Given the description of an element on the screen output the (x, y) to click on. 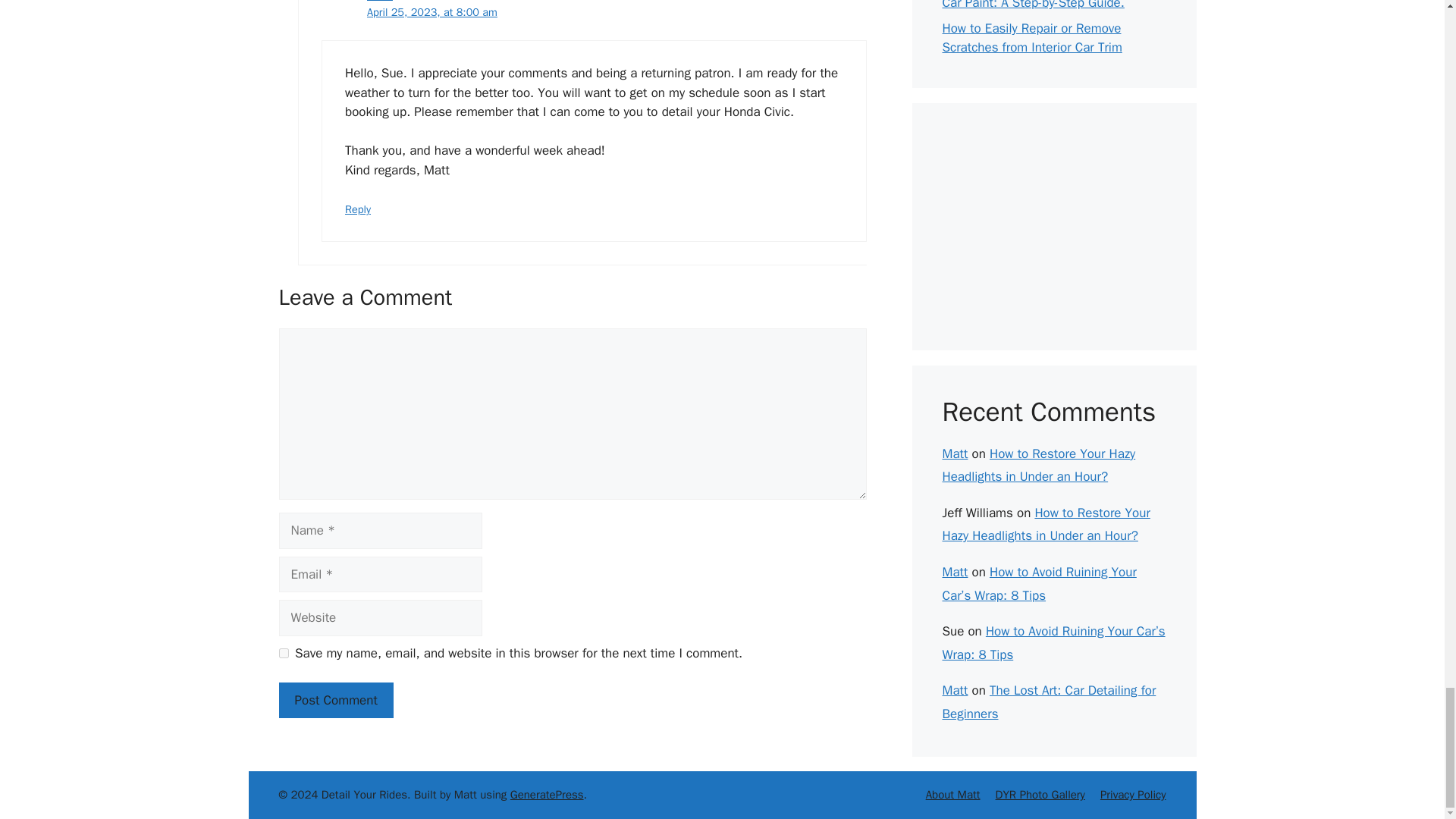
Matt (379, 1)
Post Comment (336, 700)
Reply (358, 209)
yes (283, 653)
April 25, 2023, at 8:00 am (431, 11)
Post Comment (336, 700)
